Given the description of an element on the screen output the (x, y) to click on. 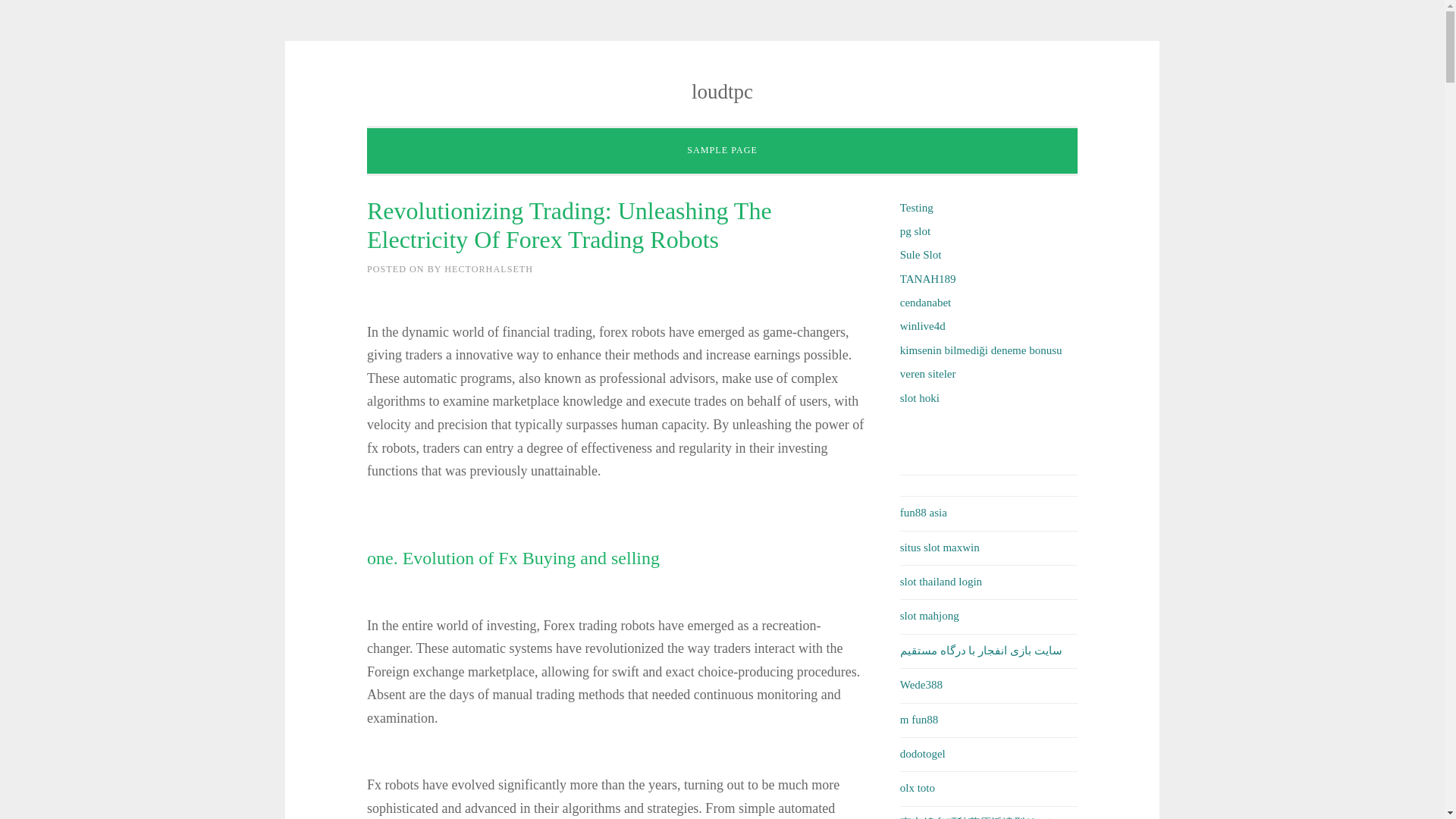
SAMPLE PAGE (721, 150)
Sule Slot (920, 254)
winlive4d (921, 326)
Testing (916, 207)
fun88 asia (923, 512)
Wede388 (920, 684)
dodotogel (921, 753)
situs slot maxwin (939, 547)
slot thailand login (940, 581)
olx toto (916, 787)
